Given the description of an element on the screen output the (x, y) to click on. 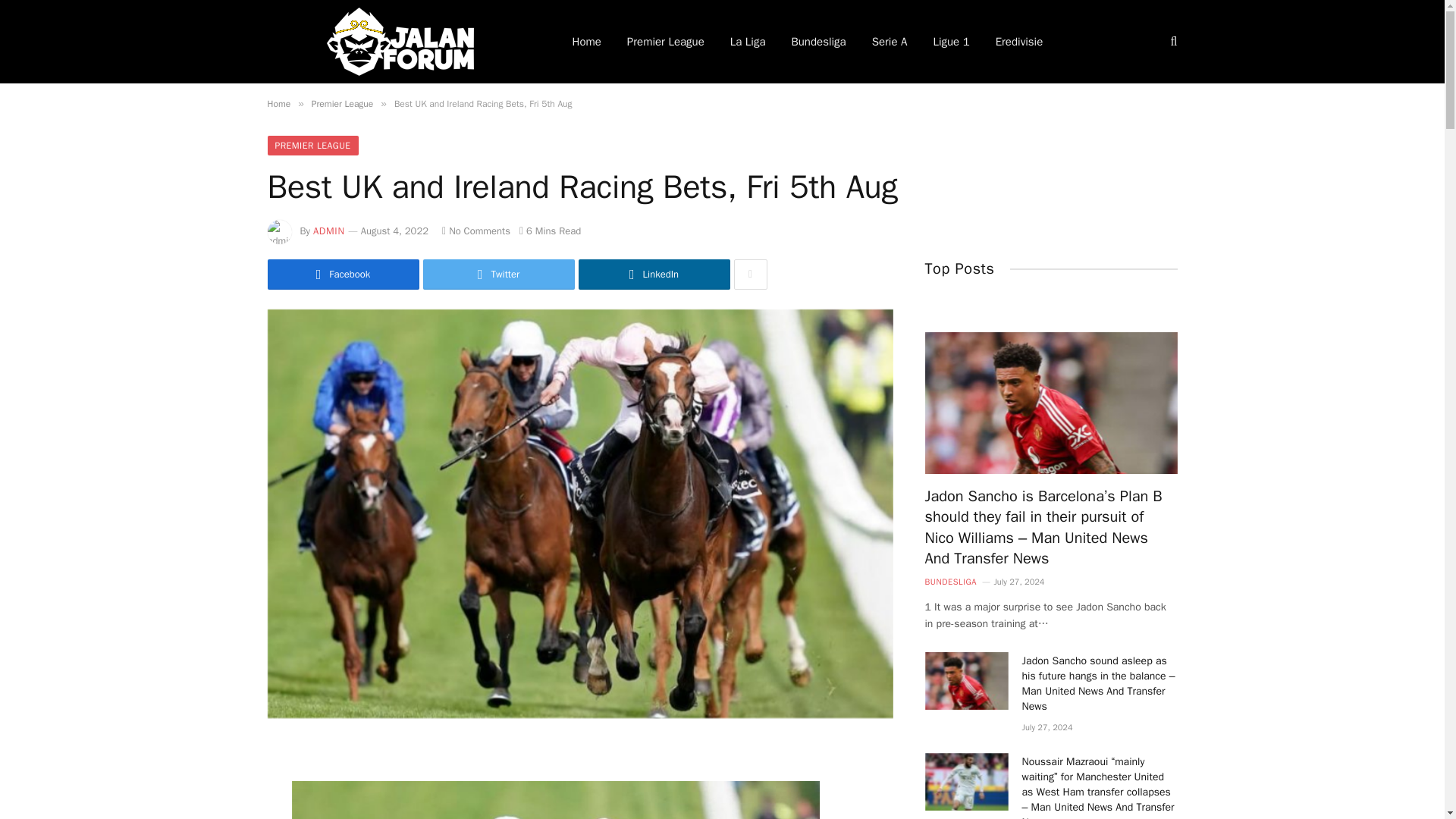
Premier League (342, 103)
Share on Twitter (499, 274)
PREMIER LEAGUE (312, 145)
Share on Facebook (342, 274)
Twitter (499, 274)
Bundesliga (818, 41)
Posts by admin (329, 230)
Premier League (665, 41)
No Comments (476, 230)
Share on LinkedIn (653, 274)
Home (277, 103)
LinkedIn (653, 274)
Jalanforum News (399, 41)
ADMIN (329, 230)
Facebook (342, 274)
